Given the description of an element on the screen output the (x, y) to click on. 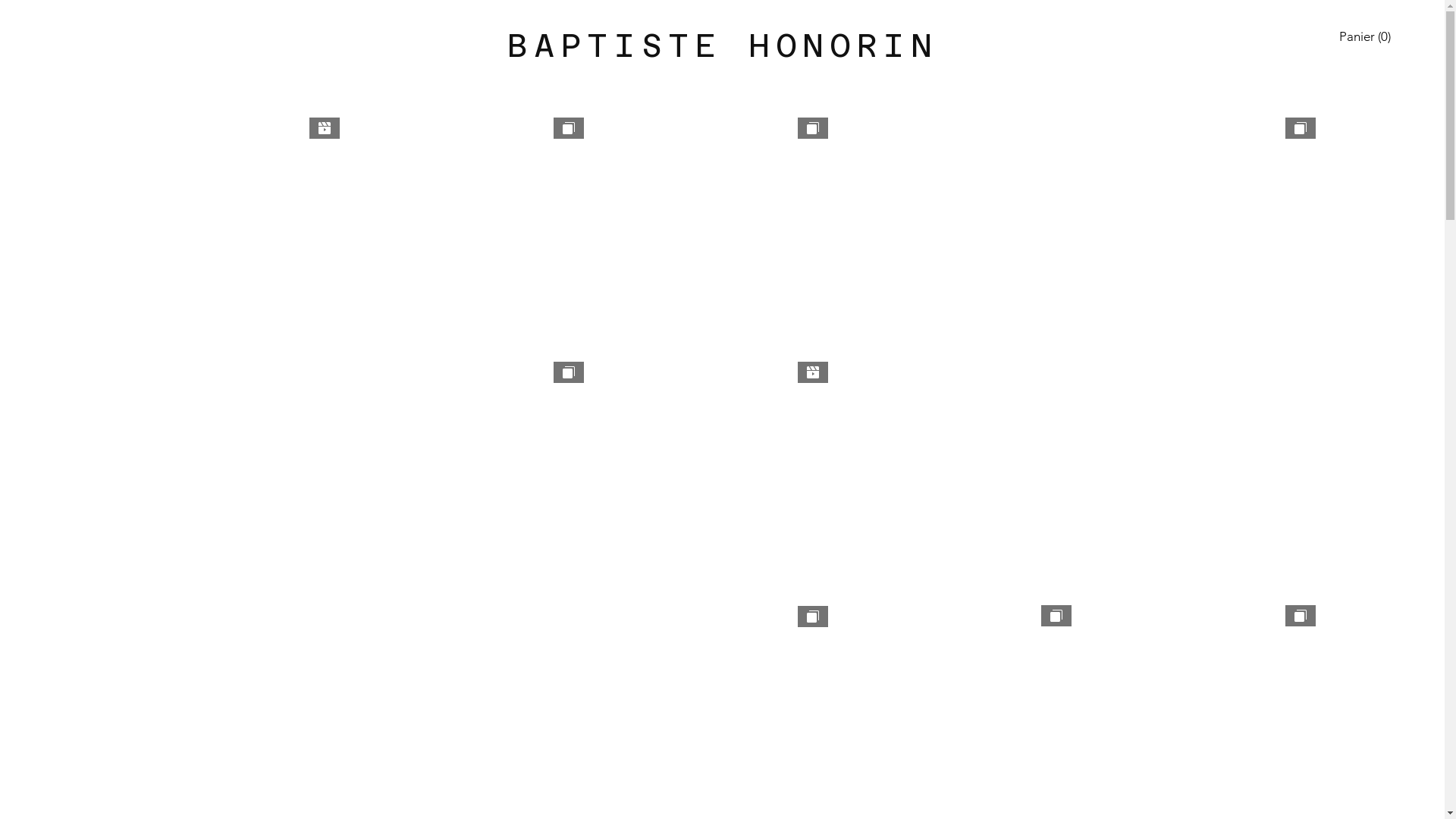
Panier (0) Element type: text (1365, 35)
BAPTISTE HONORIN Element type: text (722, 45)
